Given the description of an element on the screen output the (x, y) to click on. 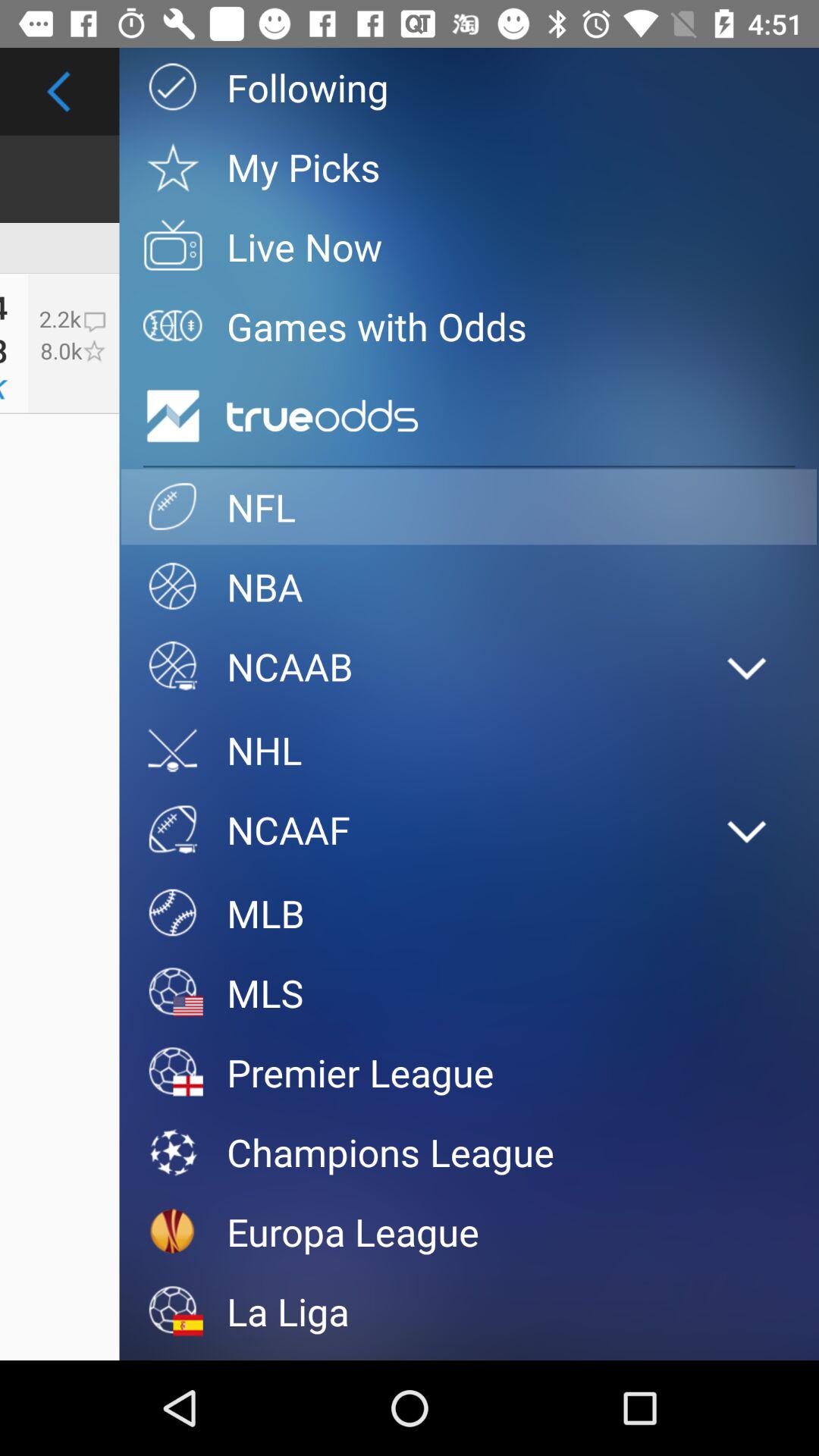
turn on the icon to the right of the 34 (73, 342)
